Given the description of an element on the screen output the (x, y) to click on. 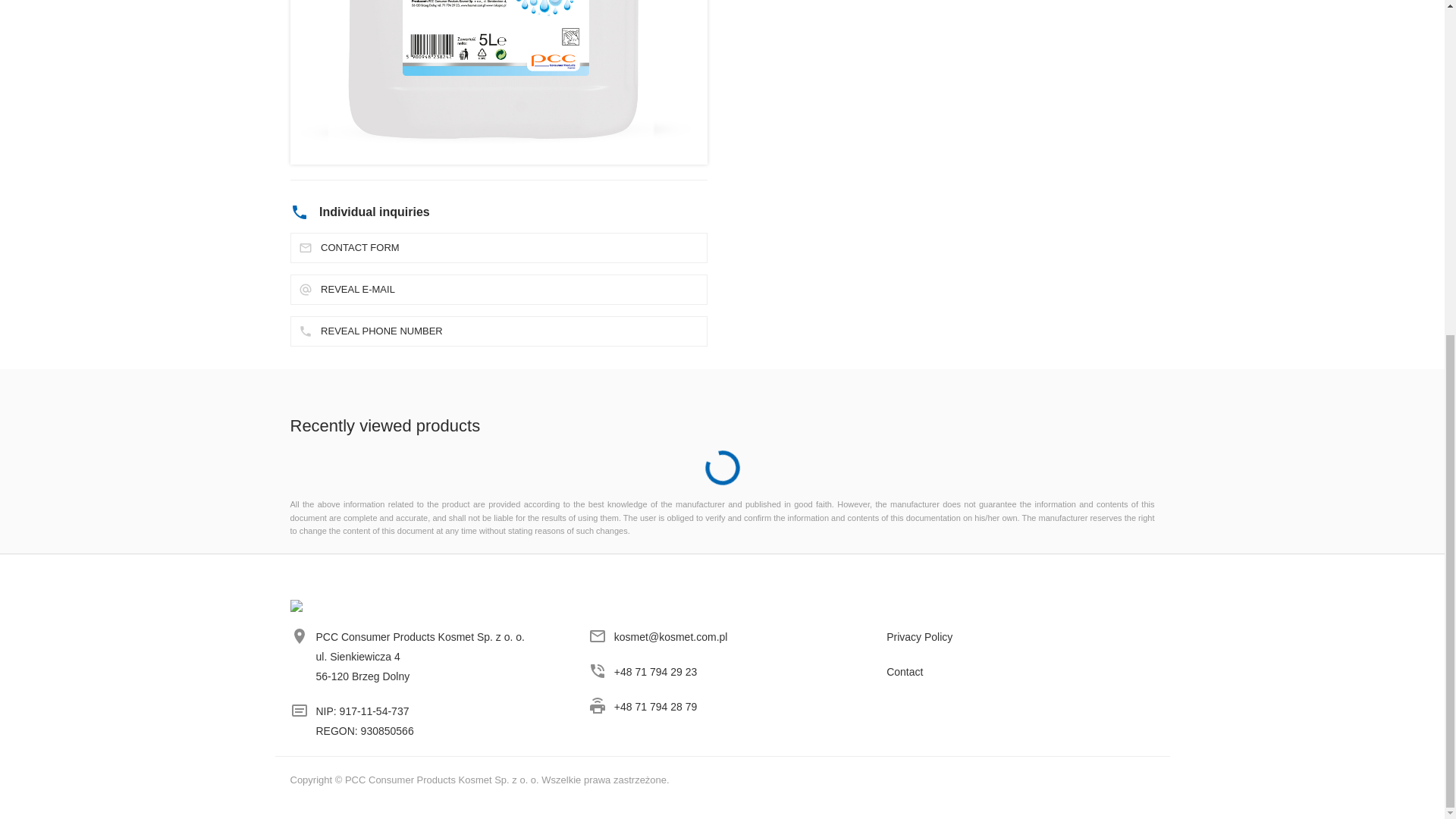
REVEAL PHONE NUMBER (497, 331)
REVEAL E-MAIL (497, 289)
CONTACT FORM (497, 247)
Contact (1020, 675)
Privacy Policy (1020, 640)
